Given the description of an element on the screen output the (x, y) to click on. 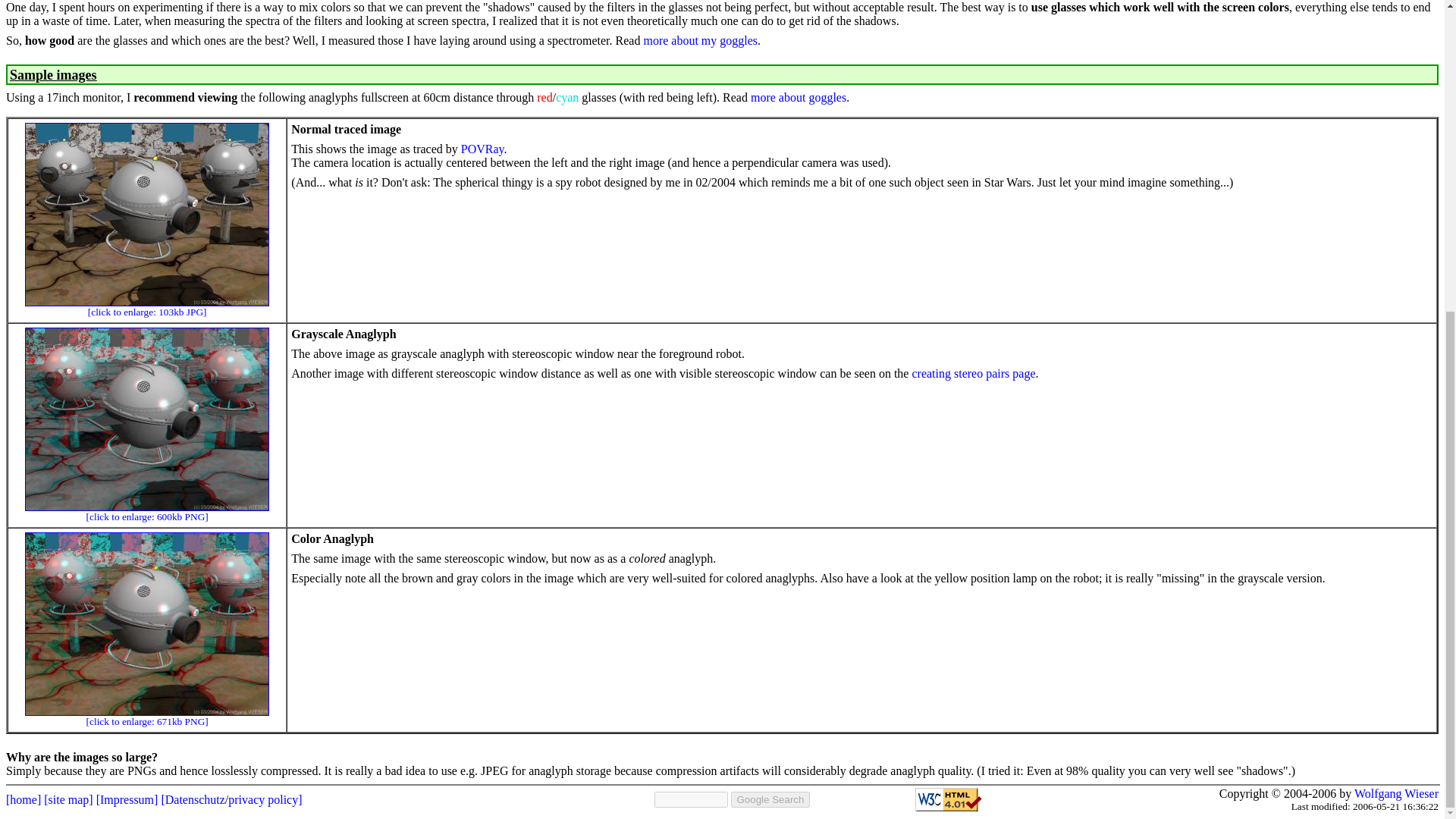
more about goggles (798, 97)
Google Search (770, 799)
creating stereo pairs page (973, 373)
Wolfgang Wieser (1396, 793)
POVRay (482, 148)
Google Search (770, 799)
more about my goggles (700, 40)
